Given the description of an element on the screen output the (x, y) to click on. 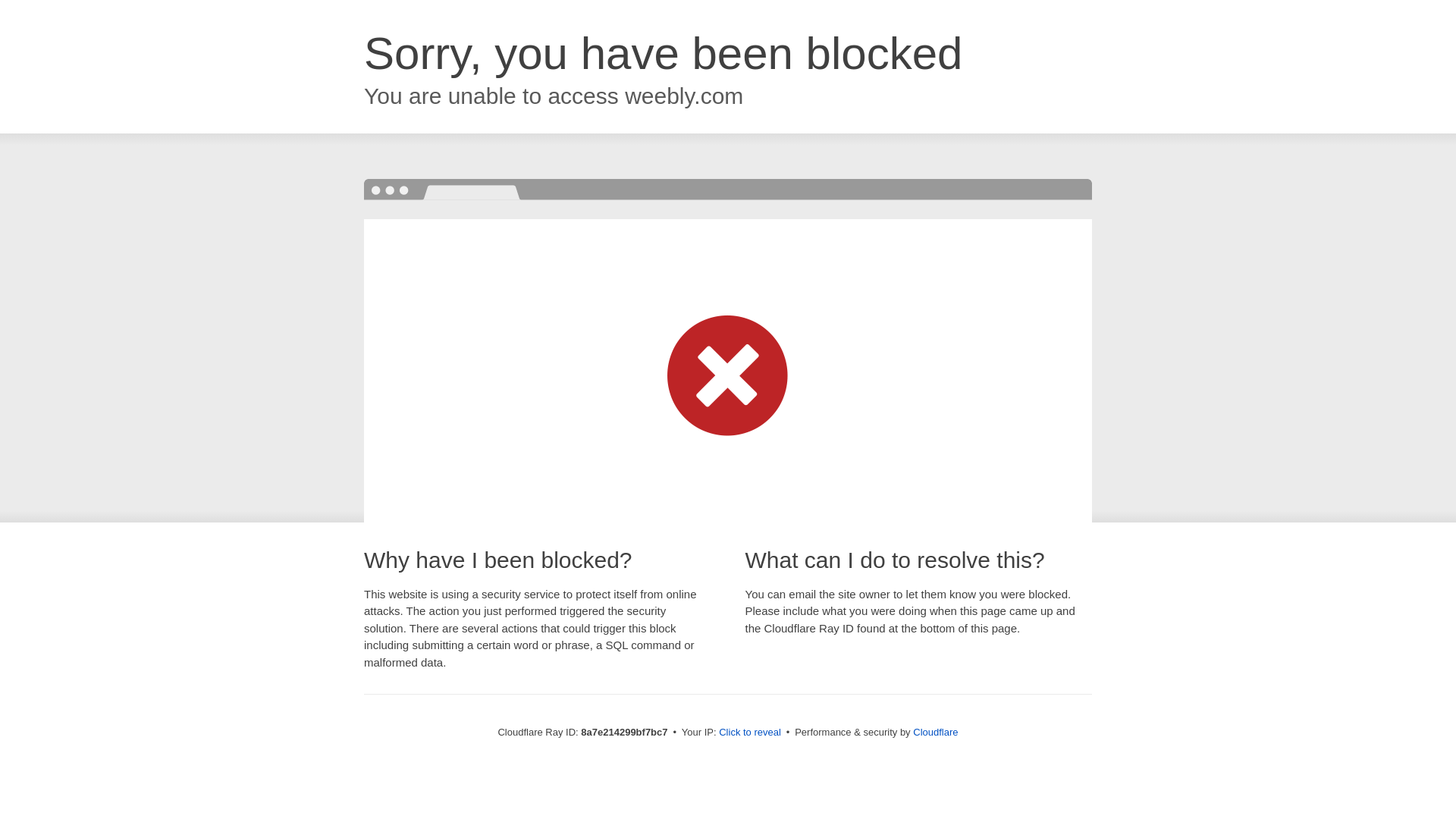
Click to reveal (749, 732)
Cloudflare (935, 731)
